Given the description of an element on the screen output the (x, y) to click on. 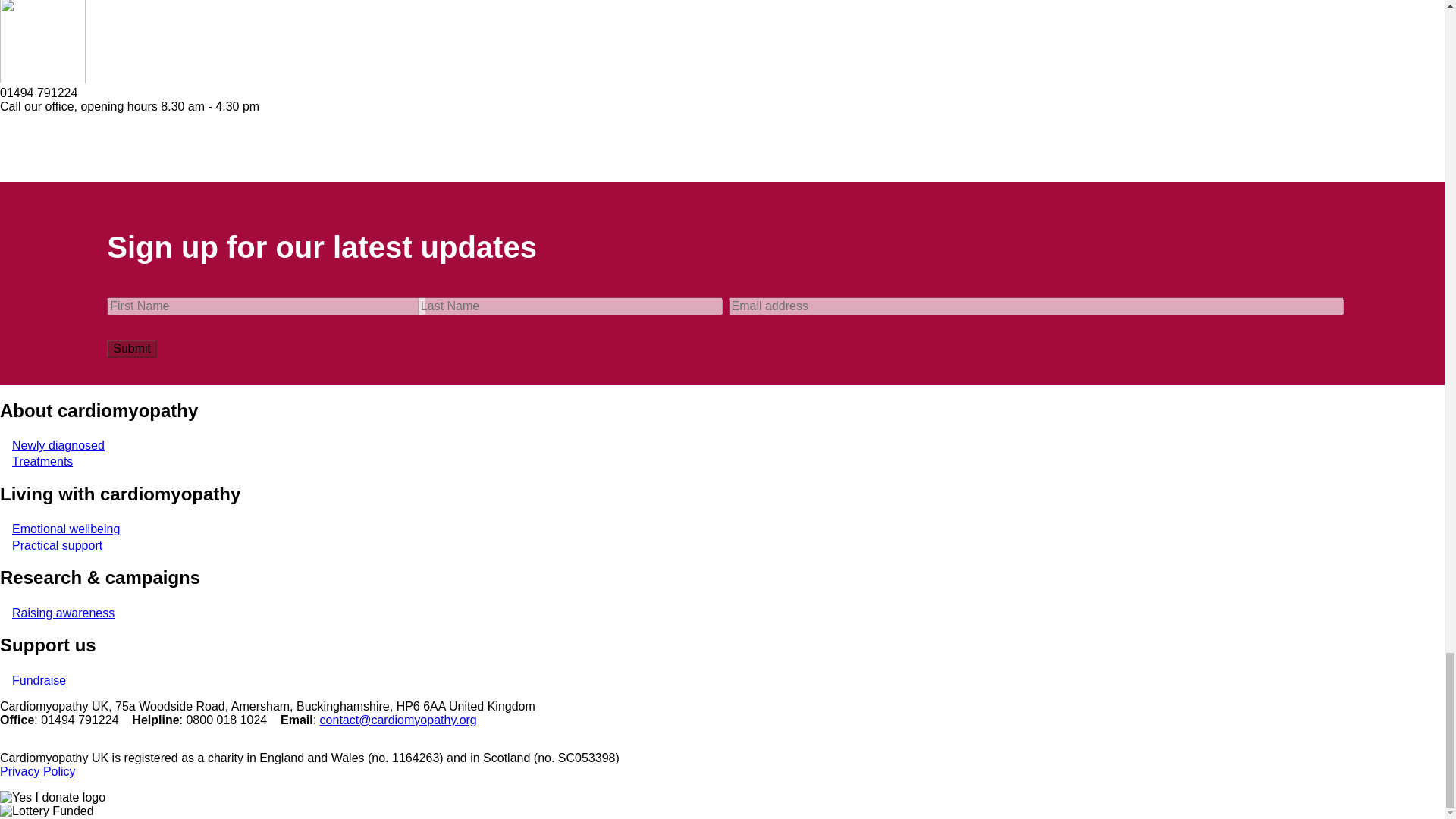
Submit (131, 348)
Privacy Policy (37, 771)
